Given the description of an element on the screen output the (x, y) to click on. 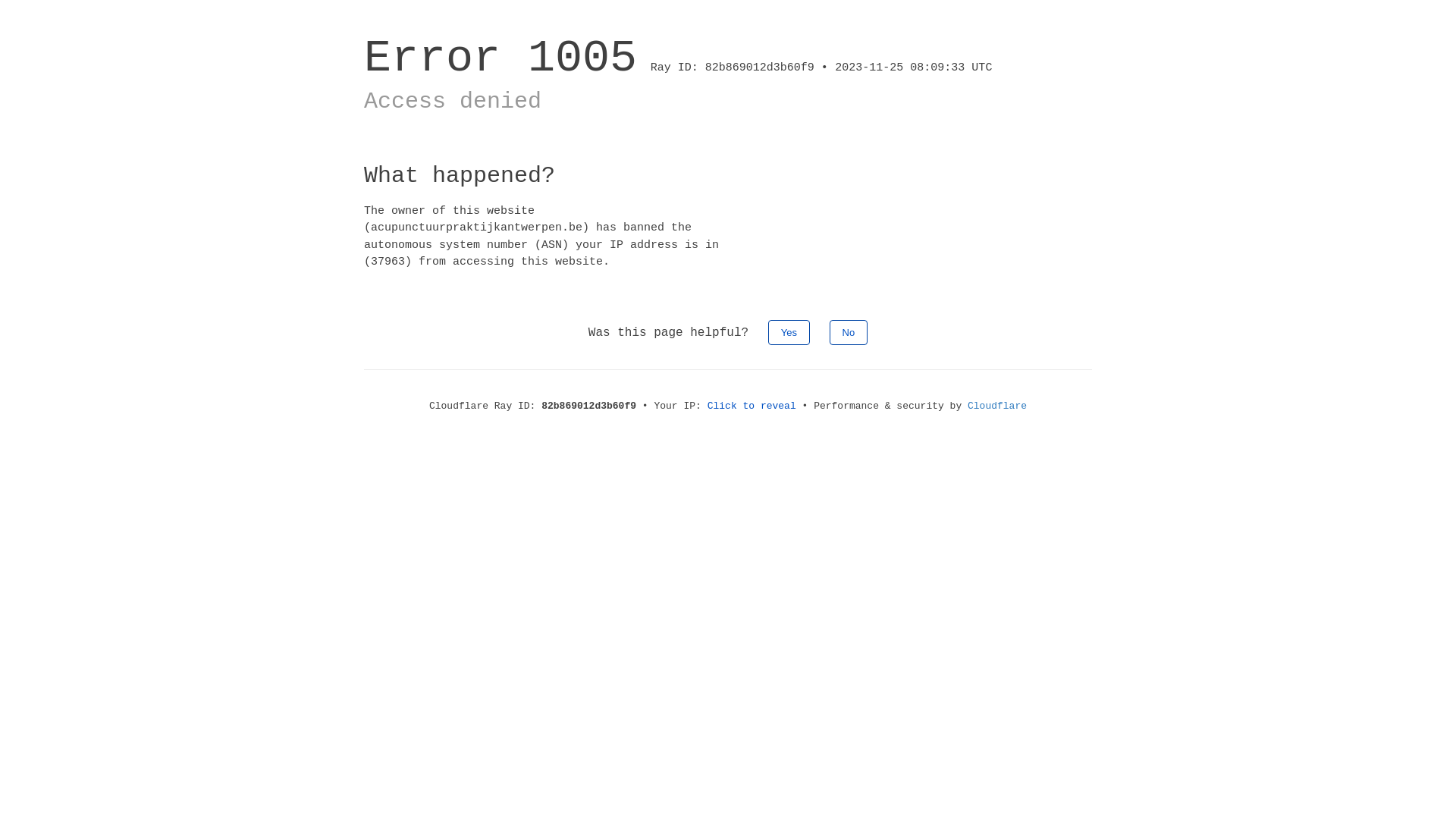
No Element type: text (848, 332)
Yes Element type: text (788, 332)
Cloudflare Element type: text (996, 405)
Click to reveal Element type: text (751, 405)
